Given the description of an element on the screen output the (x, y) to click on. 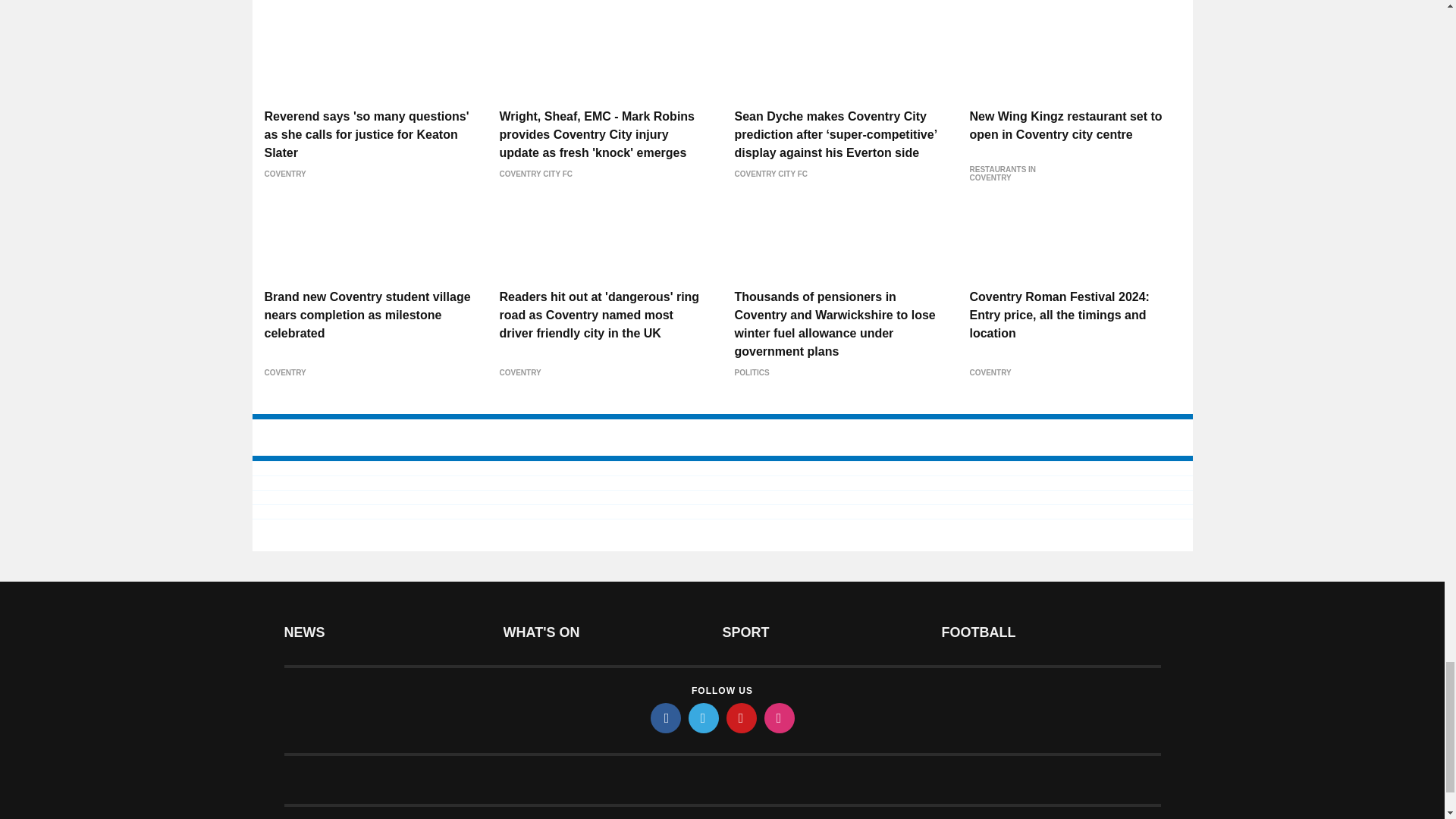
instagram (779, 625)
facebook (665, 625)
pinterest (741, 625)
twitter (703, 625)
